Given the description of an element on the screen output the (x, y) to click on. 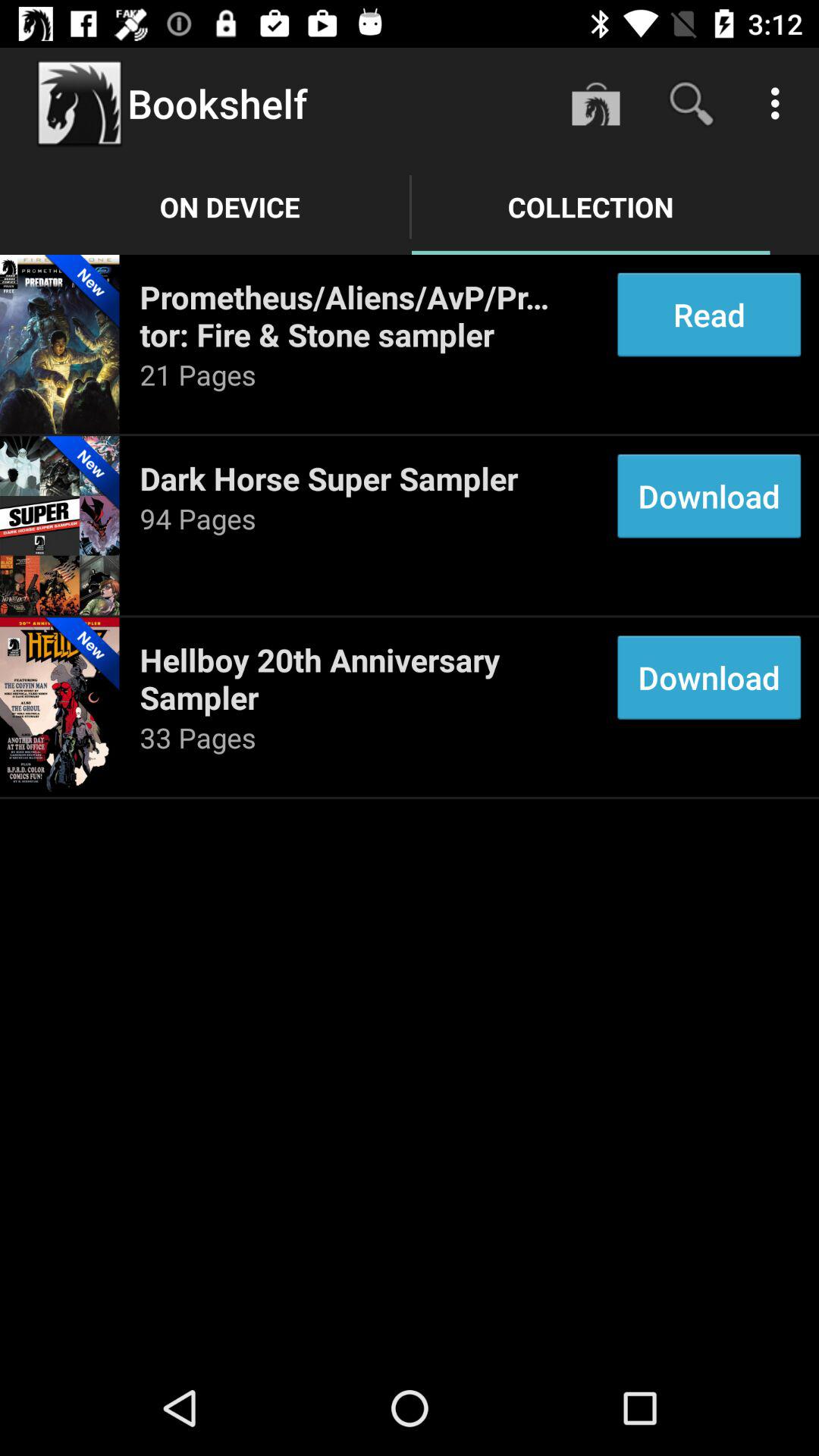
open the item above read item (779, 103)
